Given the description of an element on the screen output the (x, y) to click on. 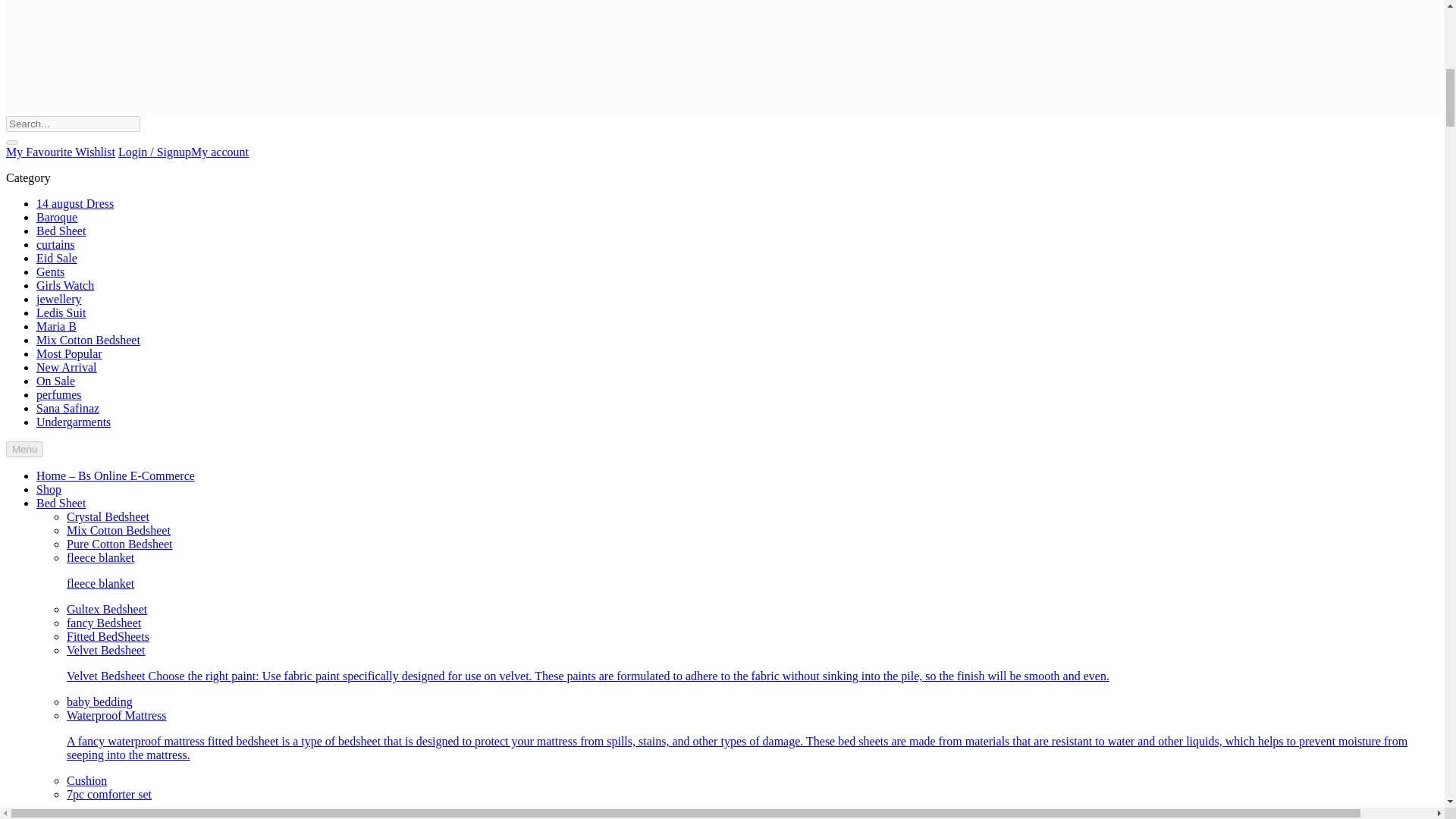
Menu (24, 449)
perfumes (58, 394)
Shop (48, 489)
Girls Watch (65, 285)
Baroque (56, 216)
New Arrival (66, 367)
curtains (55, 244)
My Favourite Wishlist (60, 151)
Search (72, 123)
Eid Sale (56, 257)
14 august Dress (74, 203)
Sana Safinaz (67, 408)
Undergarments (73, 421)
Most Popular (68, 353)
Pure Cotton Bedsheet (119, 543)
